Given the description of an element on the screen output the (x, y) to click on. 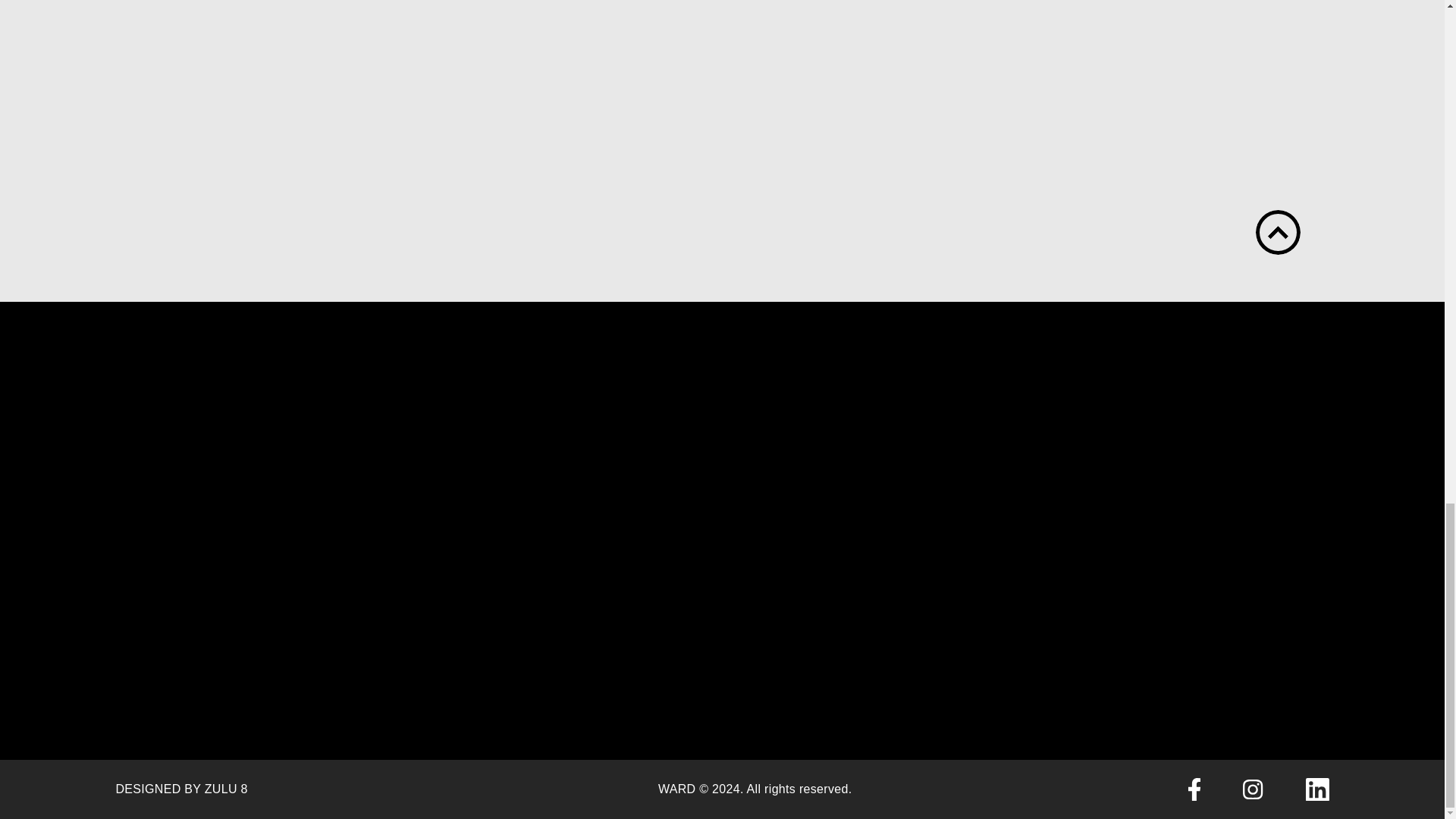
up (1277, 231)
Instagram (1252, 789)
up (1277, 231)
linkedin (1317, 789)
